Given the description of an element on the screen output the (x, y) to click on. 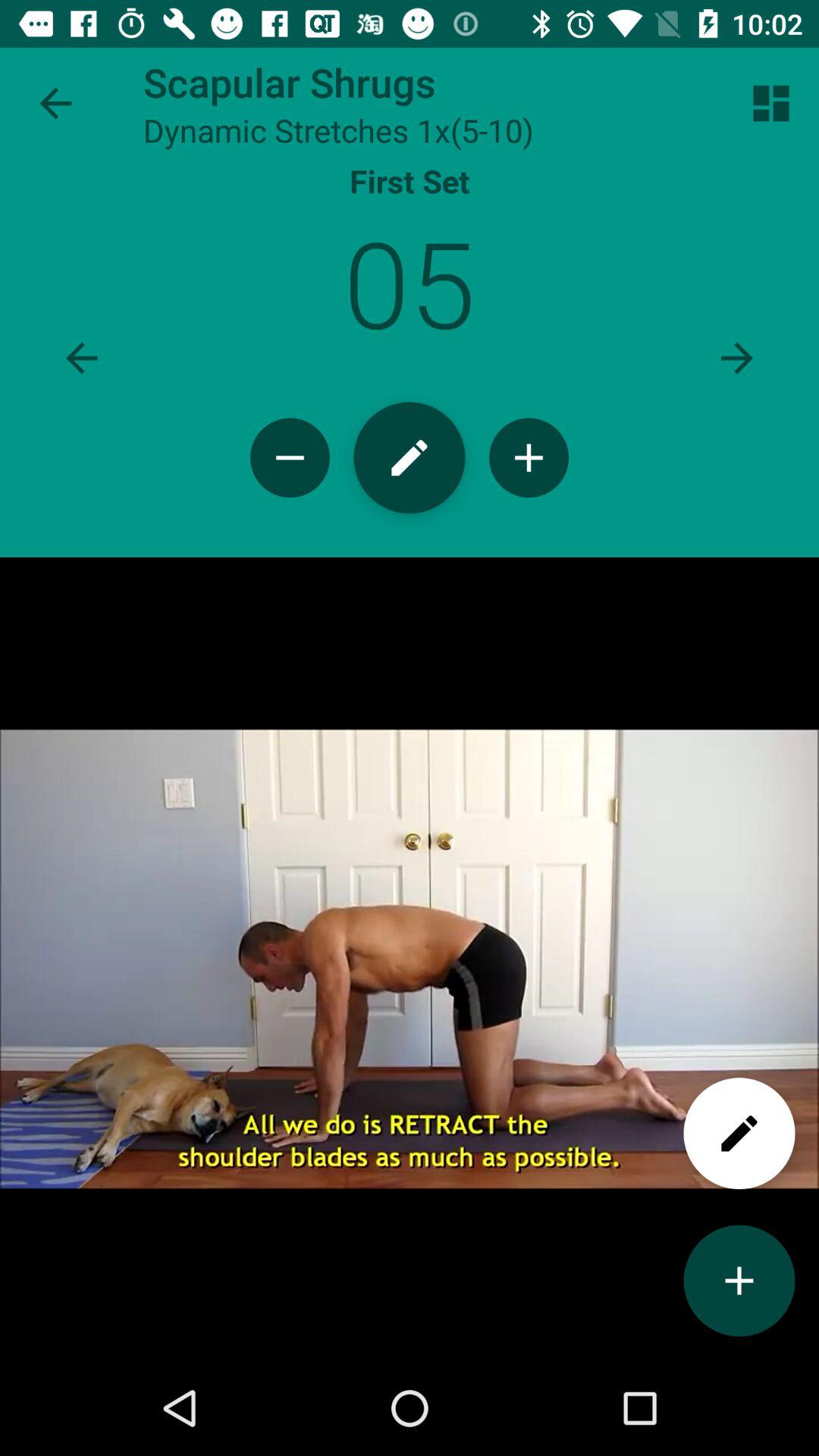
next page (737, 358)
